Given the description of an element on the screen output the (x, y) to click on. 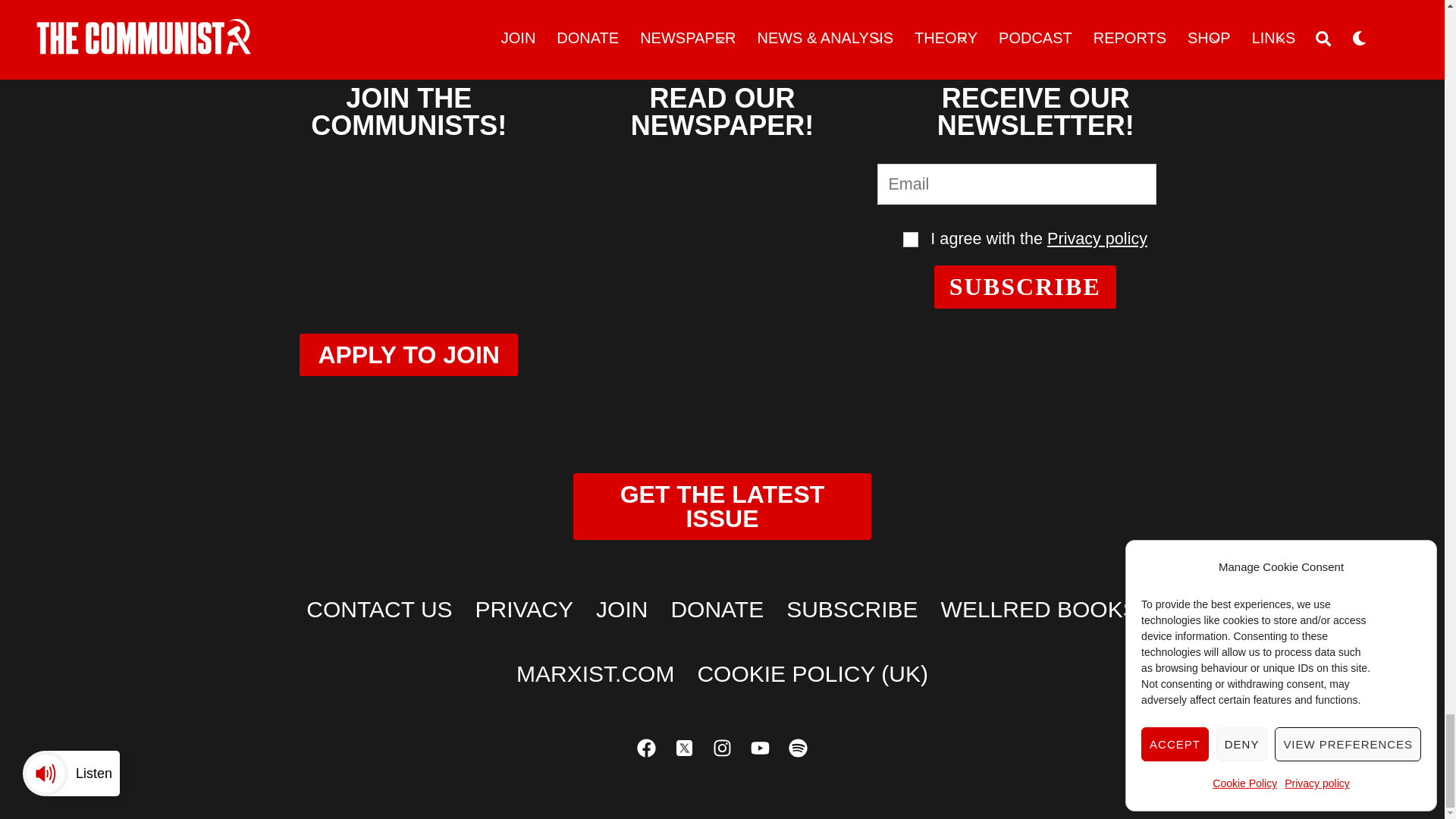
Terms and conditions (910, 239)
Privacy policy (1096, 238)
on (910, 239)
